Given the description of an element on the screen output the (x, y) to click on. 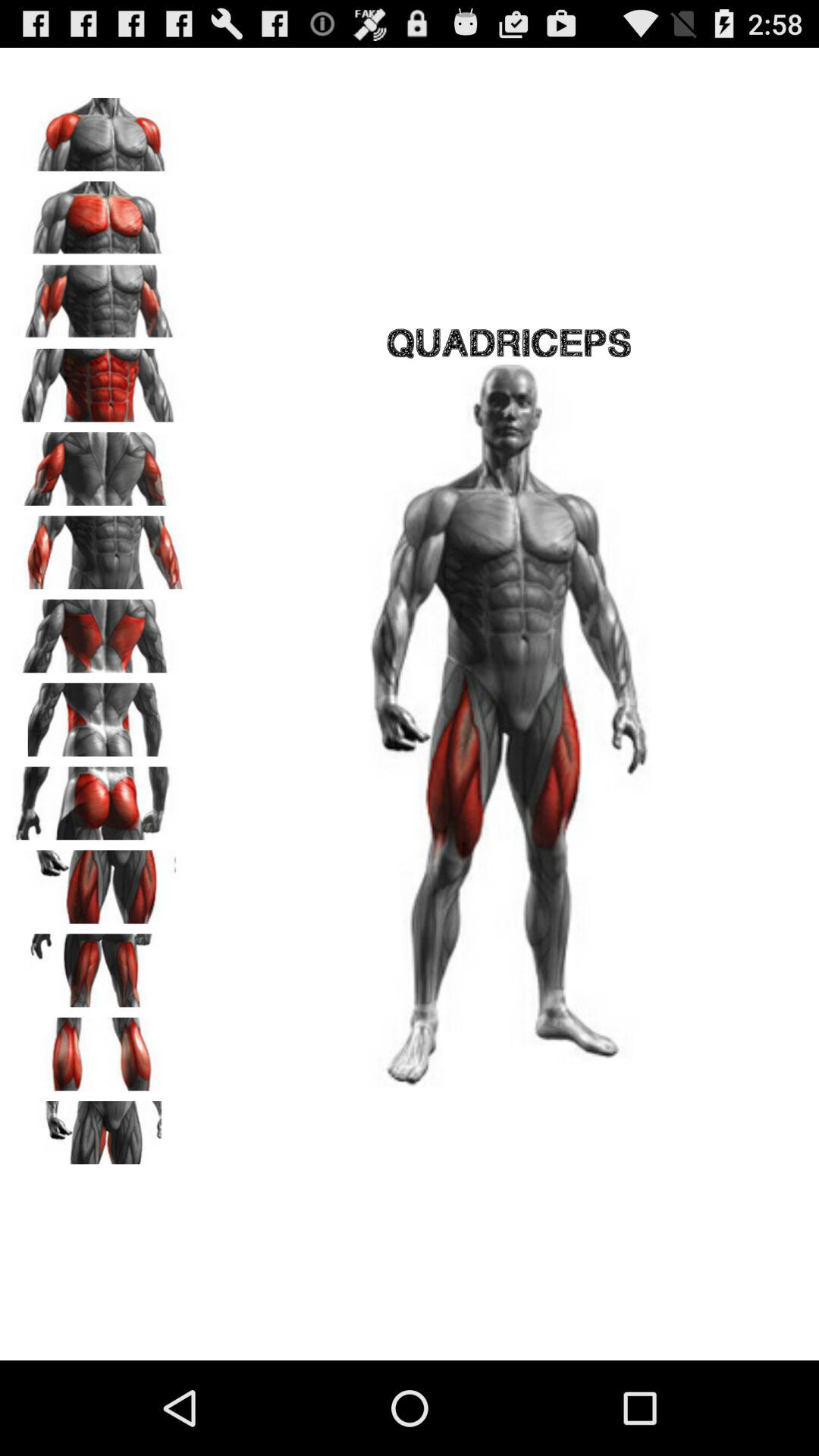
workout selecting option (99, 798)
